Given the description of an element on the screen output the (x, y) to click on. 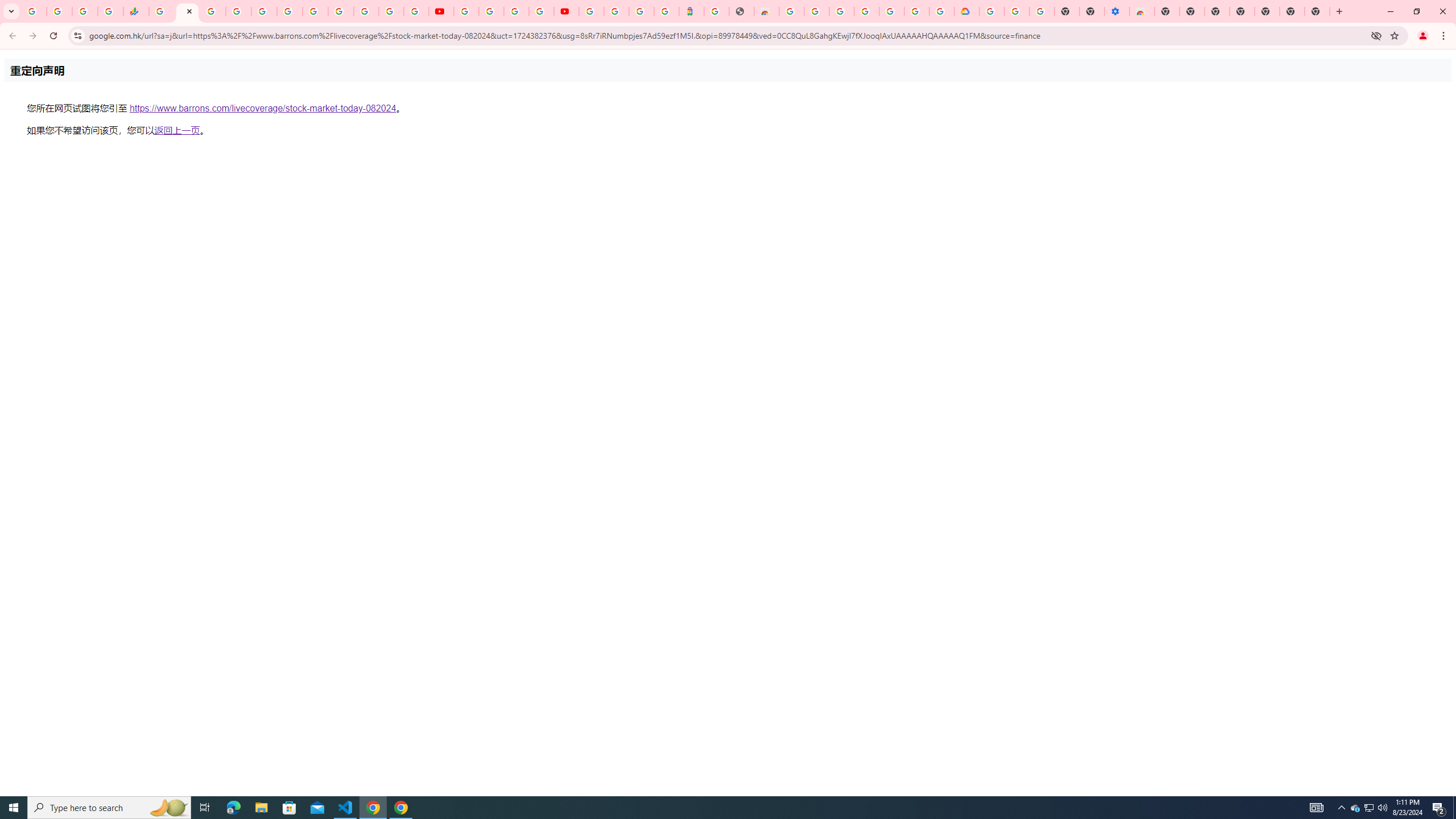
Sign in - Google Accounts (916, 11)
Privacy Checkup (415, 11)
New Tab (1166, 11)
Google Account Help (1016, 11)
YouTube (465, 11)
Sign in - Google Accounts (238, 11)
